Given the description of an element on the screen output the (x, y) to click on. 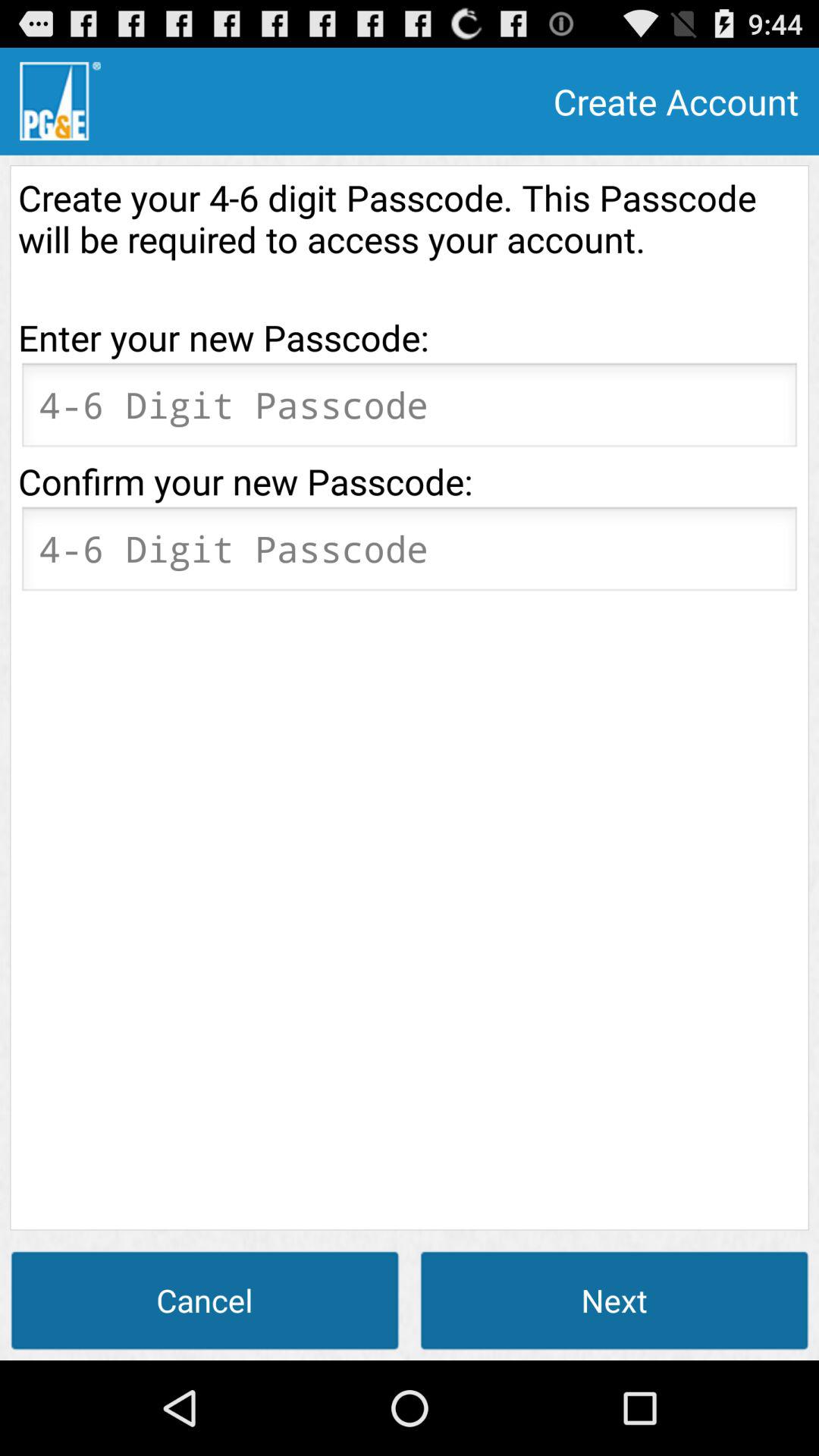
turn off item to the left of the next button (204, 1300)
